Given the description of an element on the screen output the (x, y) to click on. 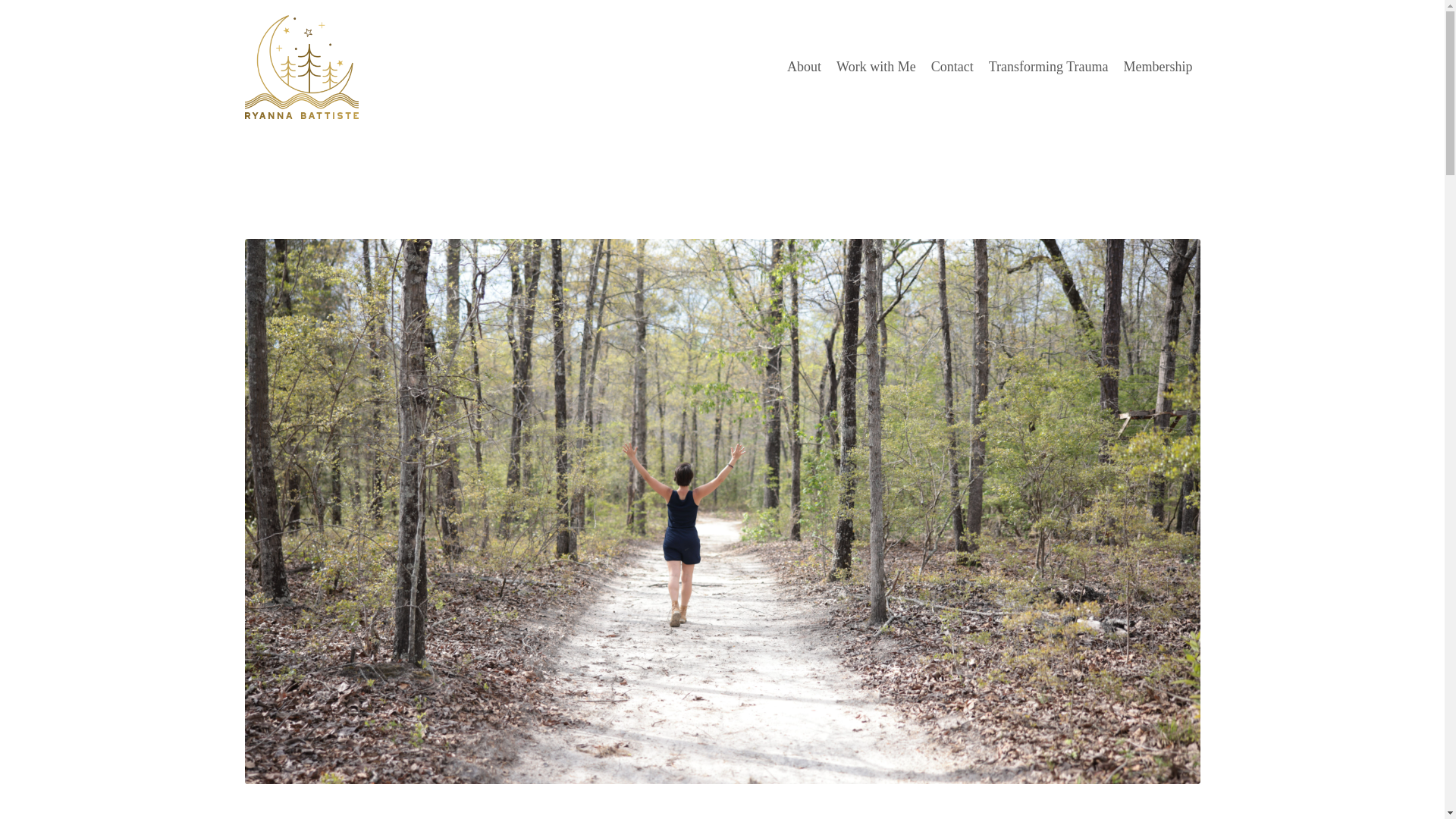
Work with Me (875, 66)
Transforming Trauma (1048, 66)
About (804, 66)
Contact (952, 66)
Membership (1158, 66)
